Given the description of an element on the screen output the (x, y) to click on. 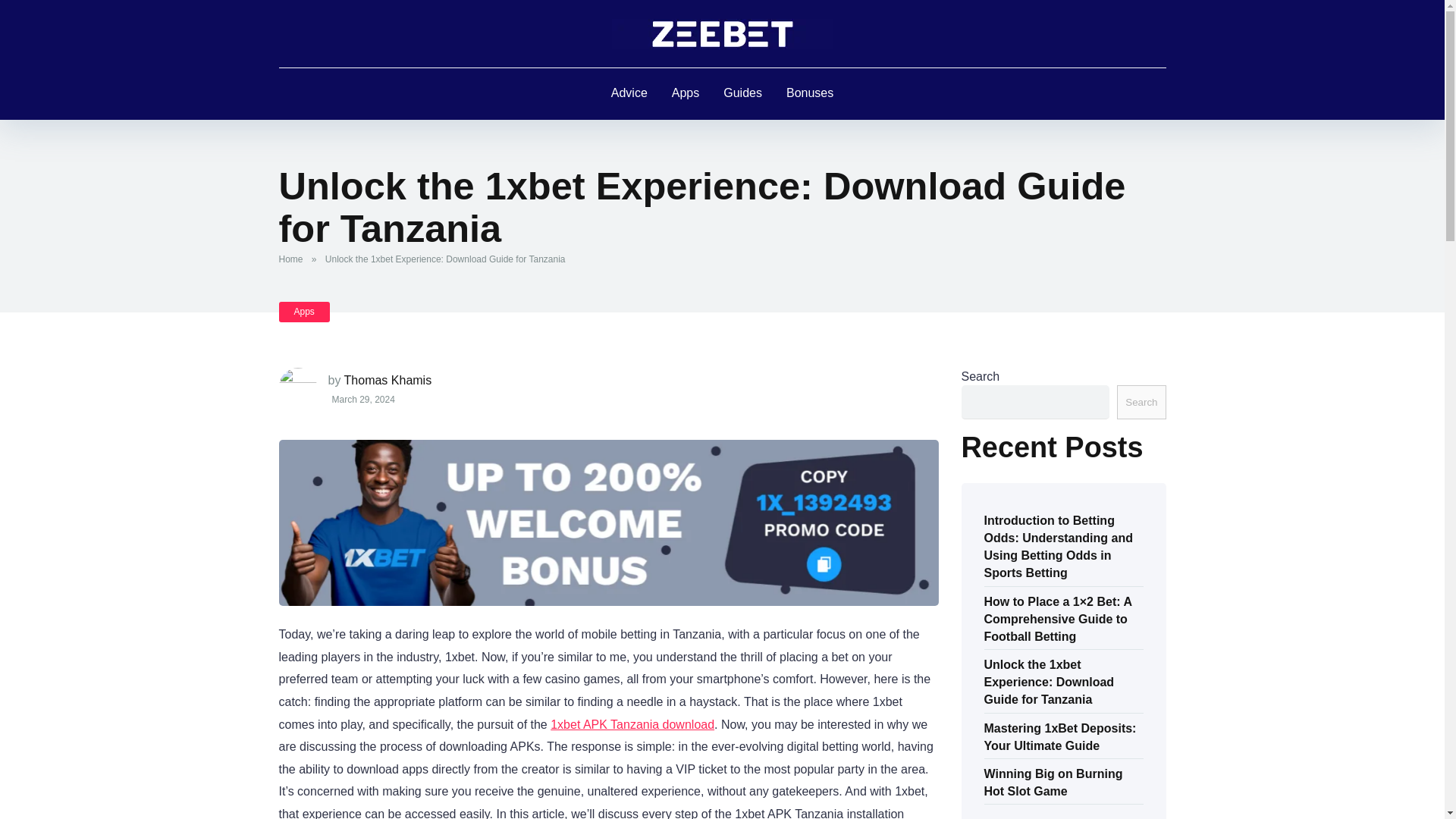
Thomas Khamis (387, 379)
Apps (685, 93)
Search (1141, 401)
Winning Big on Burning Hot Slot Game (1053, 781)
Mastering 1xBet Deposits: Your Ultimate Guide (1060, 735)
Sports Events in Tanzania  (721, 33)
Bonuses (809, 93)
Unlock the 1xbet Experience: Download Guide for Tanzania (1049, 680)
Home (293, 258)
